Given the description of an element on the screen output the (x, y) to click on. 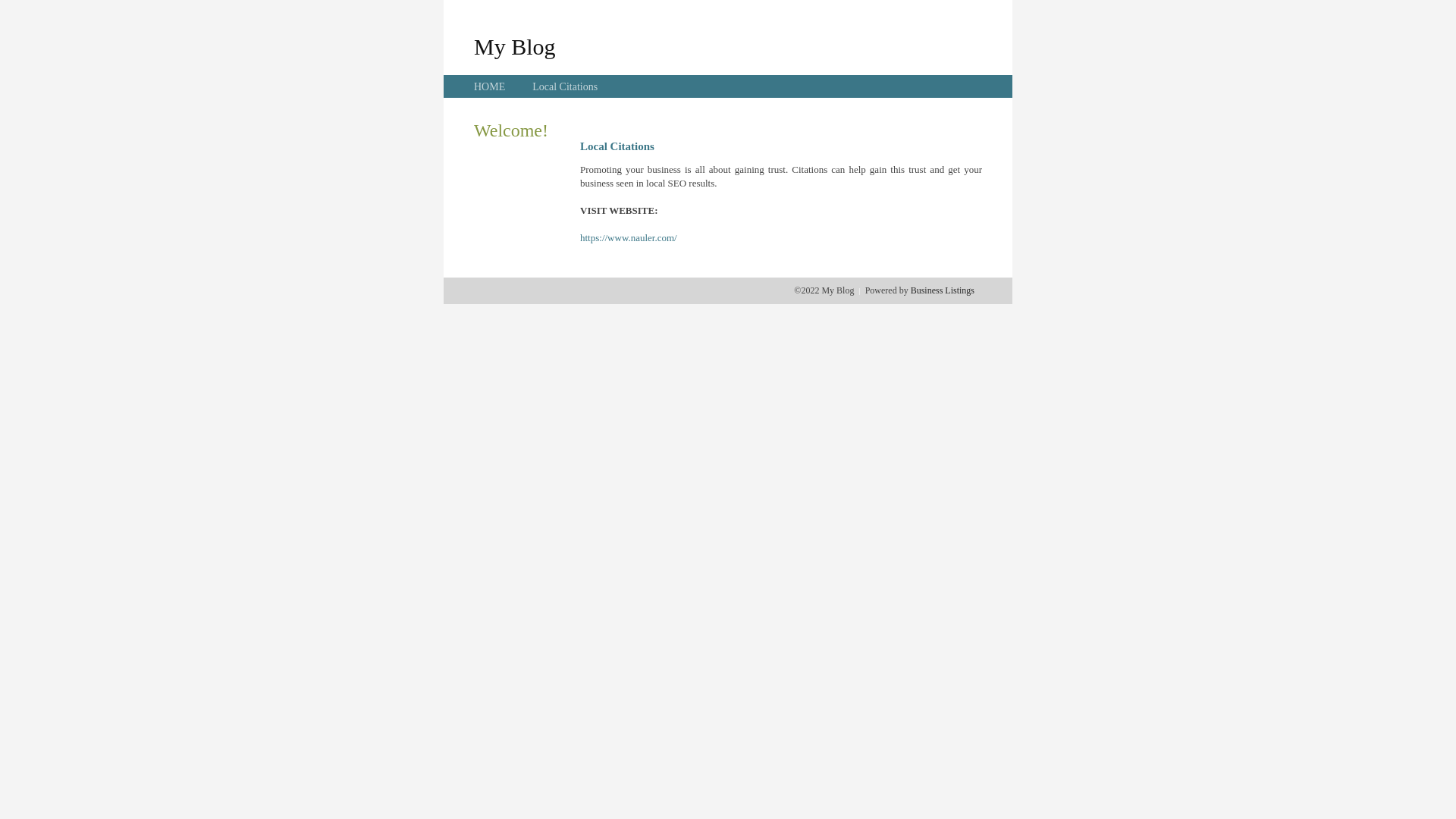
Local Citations Element type: text (564, 86)
Business Listings Element type: text (942, 290)
HOME Element type: text (489, 86)
https://www.nauler.com/ Element type: text (628, 237)
My Blog Element type: text (514, 46)
